Given the description of an element on the screen output the (x, y) to click on. 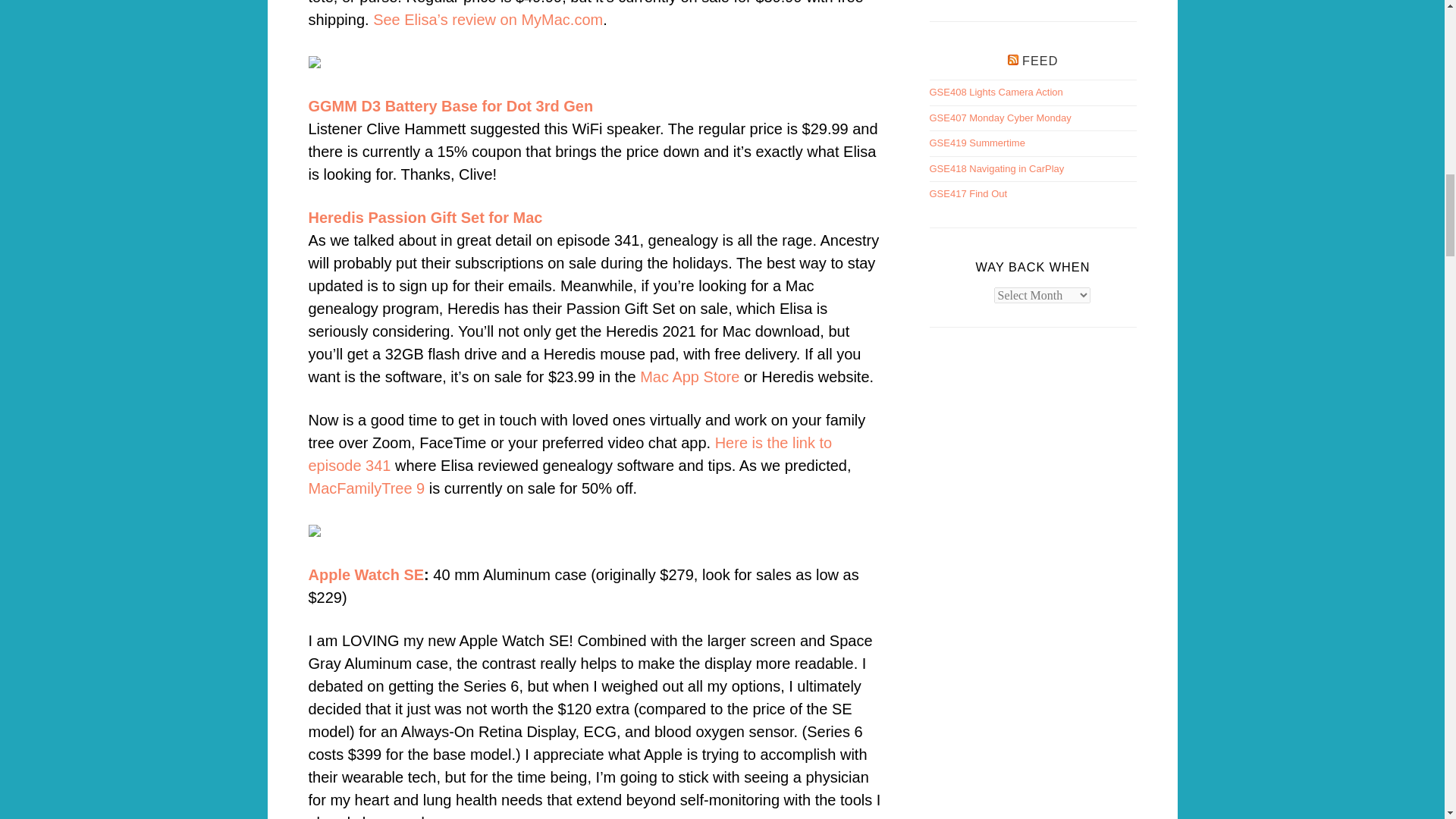
Mac App Store (689, 376)
MacFamilyTree 9 (366, 487)
Here is the link to episode 341 (569, 454)
Heredis Passion Gift Set for Mac (424, 217)
Apple Watch SE (365, 574)
GGMM D3 Battery Base for Dot 3rd Gen (449, 105)
